Given the description of an element on the screen output the (x, y) to click on. 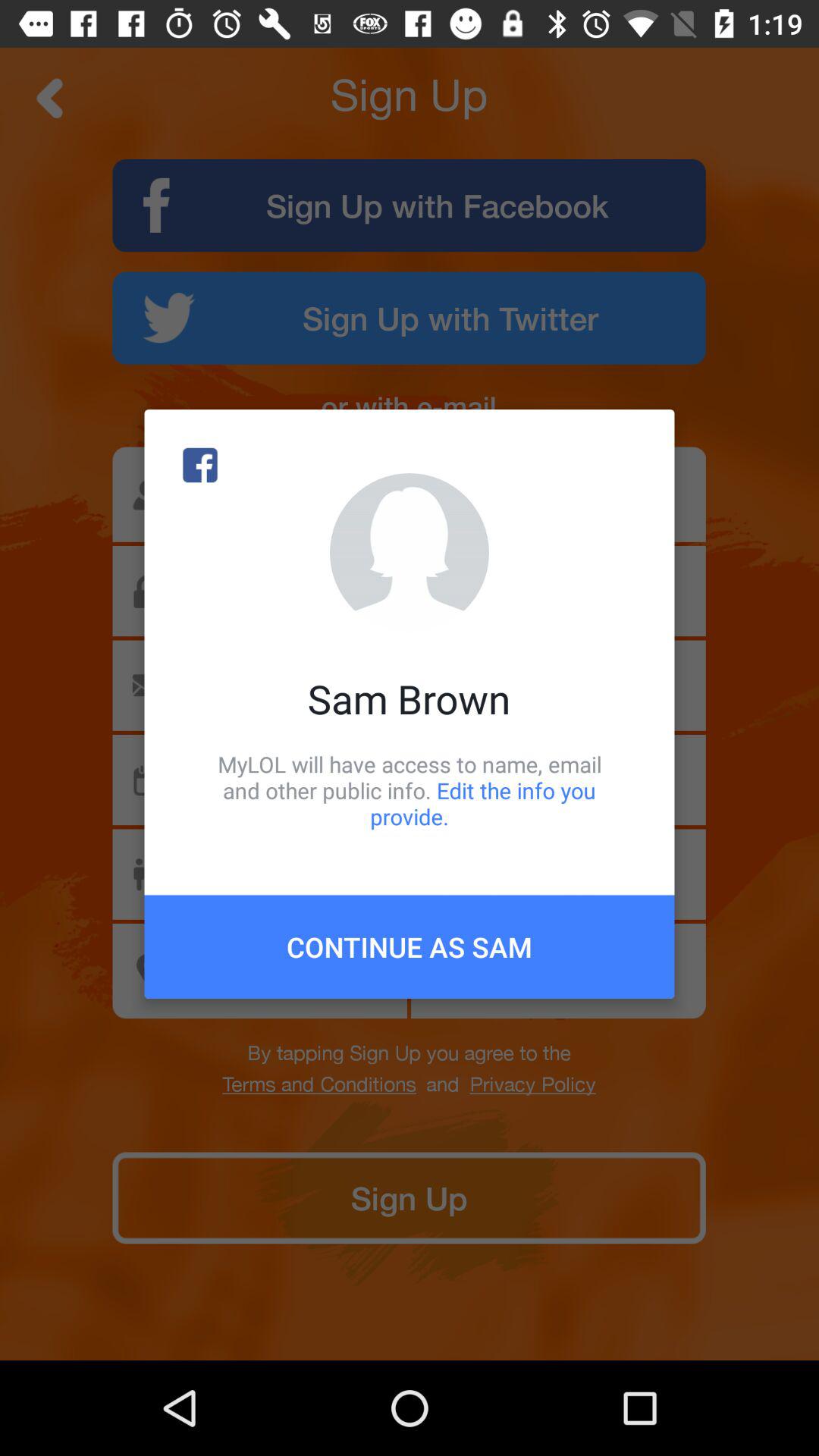
open the item above the continue as sam icon (409, 790)
